Given the description of an element on the screen output the (x, y) to click on. 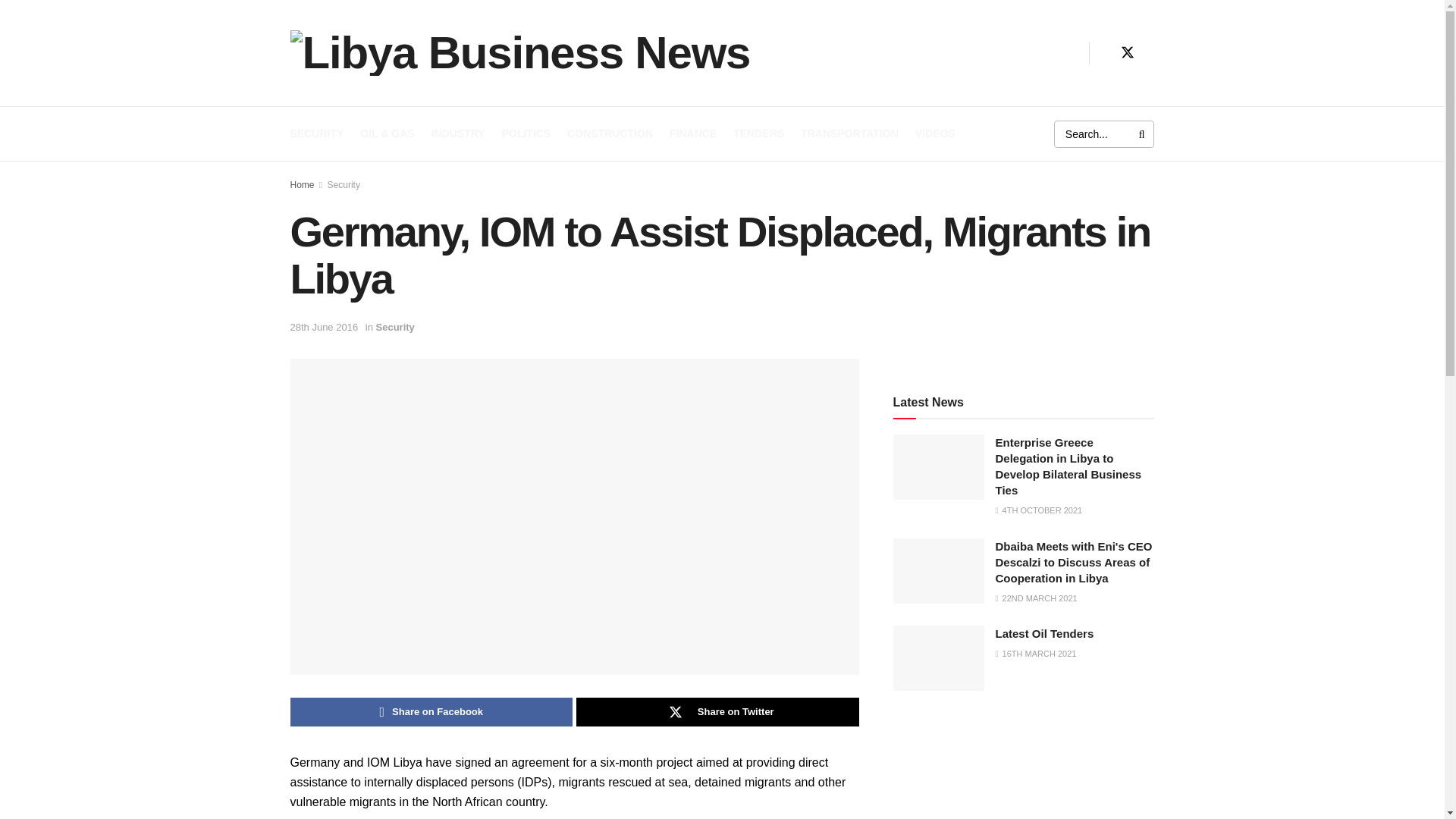
CONSTRUCTION (609, 133)
TRANSPORTATION (849, 133)
POLITICS (526, 133)
Security (394, 326)
Share on Facebook (430, 711)
INDUSTRY (457, 133)
28th June 2016 (323, 326)
Security (343, 184)
TENDERS (758, 133)
SECURITY (316, 133)
Share on Twitter (717, 711)
Home (301, 184)
